Given the description of an element on the screen output the (x, y) to click on. 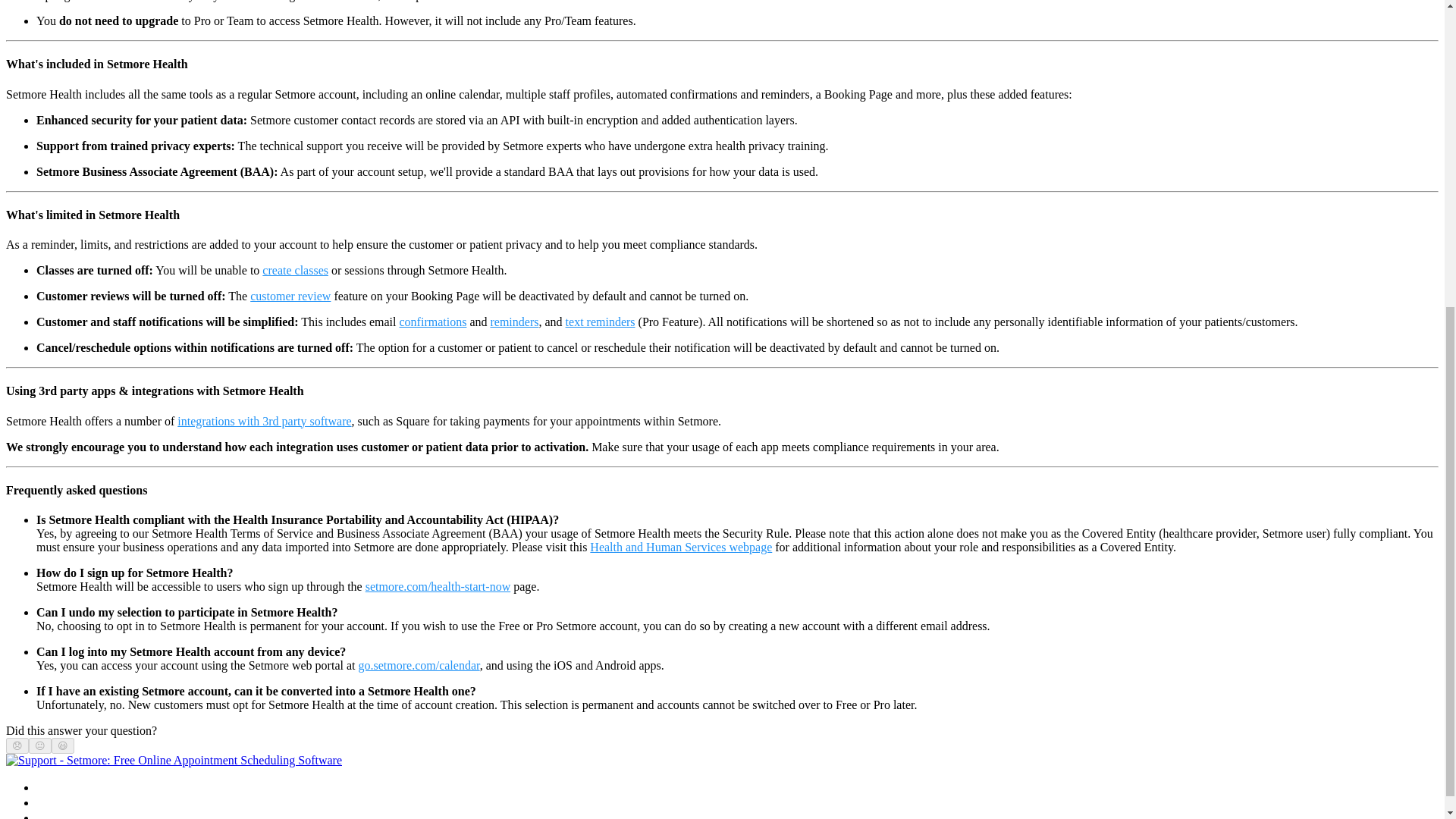
create classes (295, 269)
customer review (290, 295)
Smiley (63, 745)
Health and Human Services webpage (680, 546)
confirmations (431, 321)
text reminders (600, 321)
Neutral (39, 745)
integrations with 3rd party software (263, 420)
reminders (513, 321)
Disappointed (17, 745)
